Given the description of an element on the screen output the (x, y) to click on. 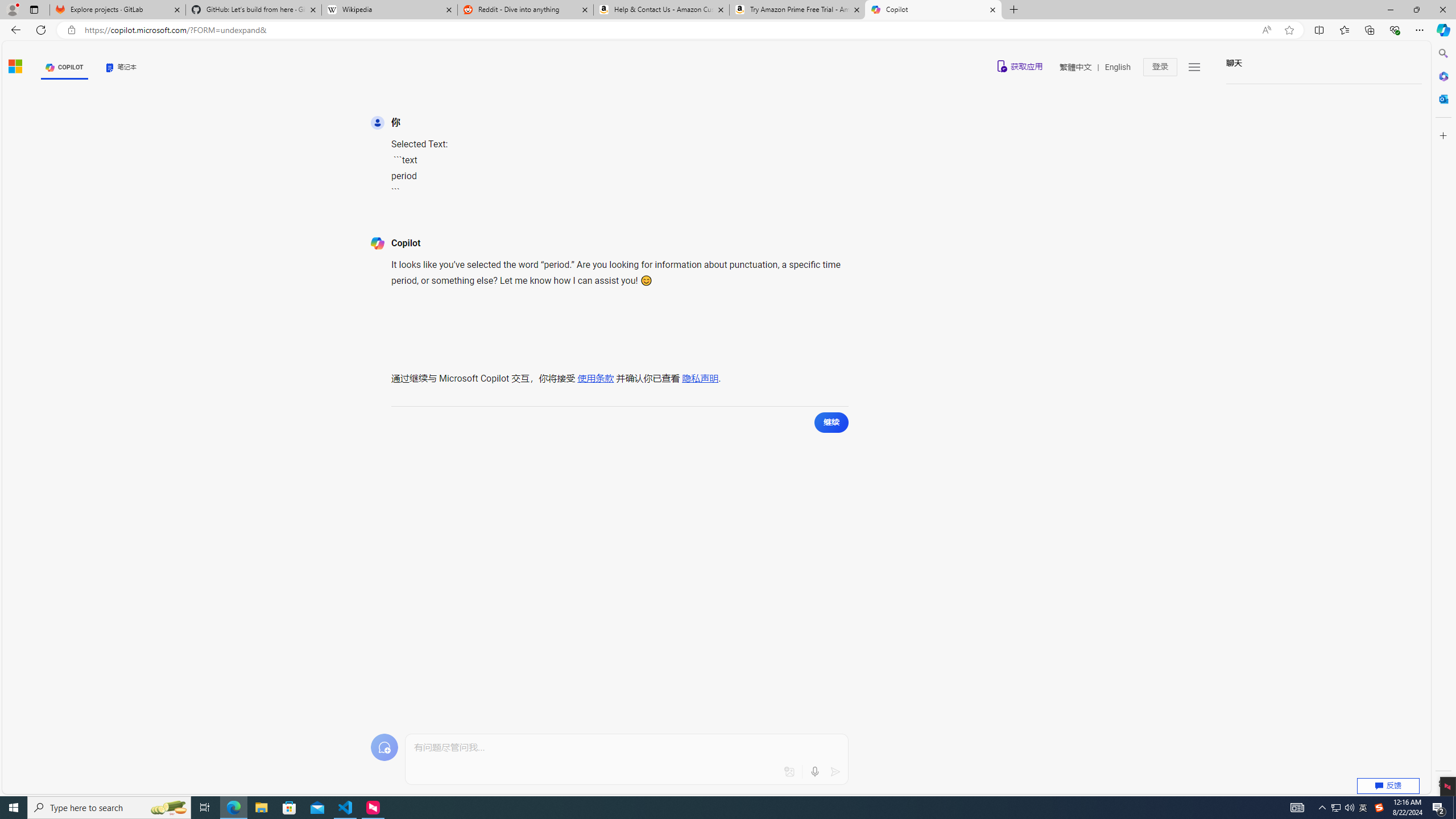
English (1118, 67)
COPILOT (64, 67)
COPILOT (64, 67)
